Given the description of an element on the screen output the (x, y) to click on. 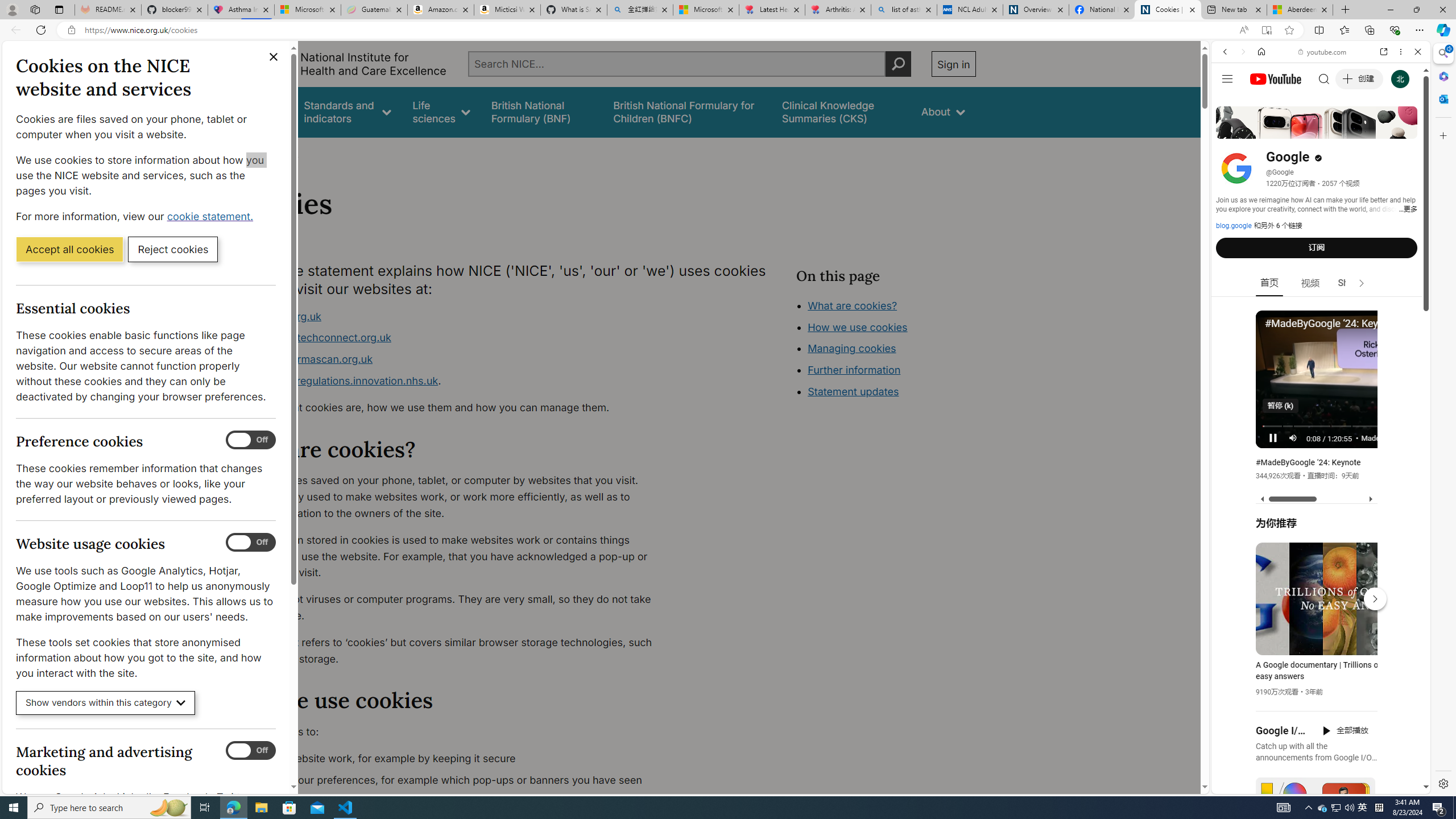
Statement updates (853, 391)
blog.google (1233, 225)
make our website work, for example by keeping it secure (452, 759)
www.healthtechconnect.org.uk (452, 338)
Home> (246, 152)
